Given the description of an element on the screen output the (x, y) to click on. 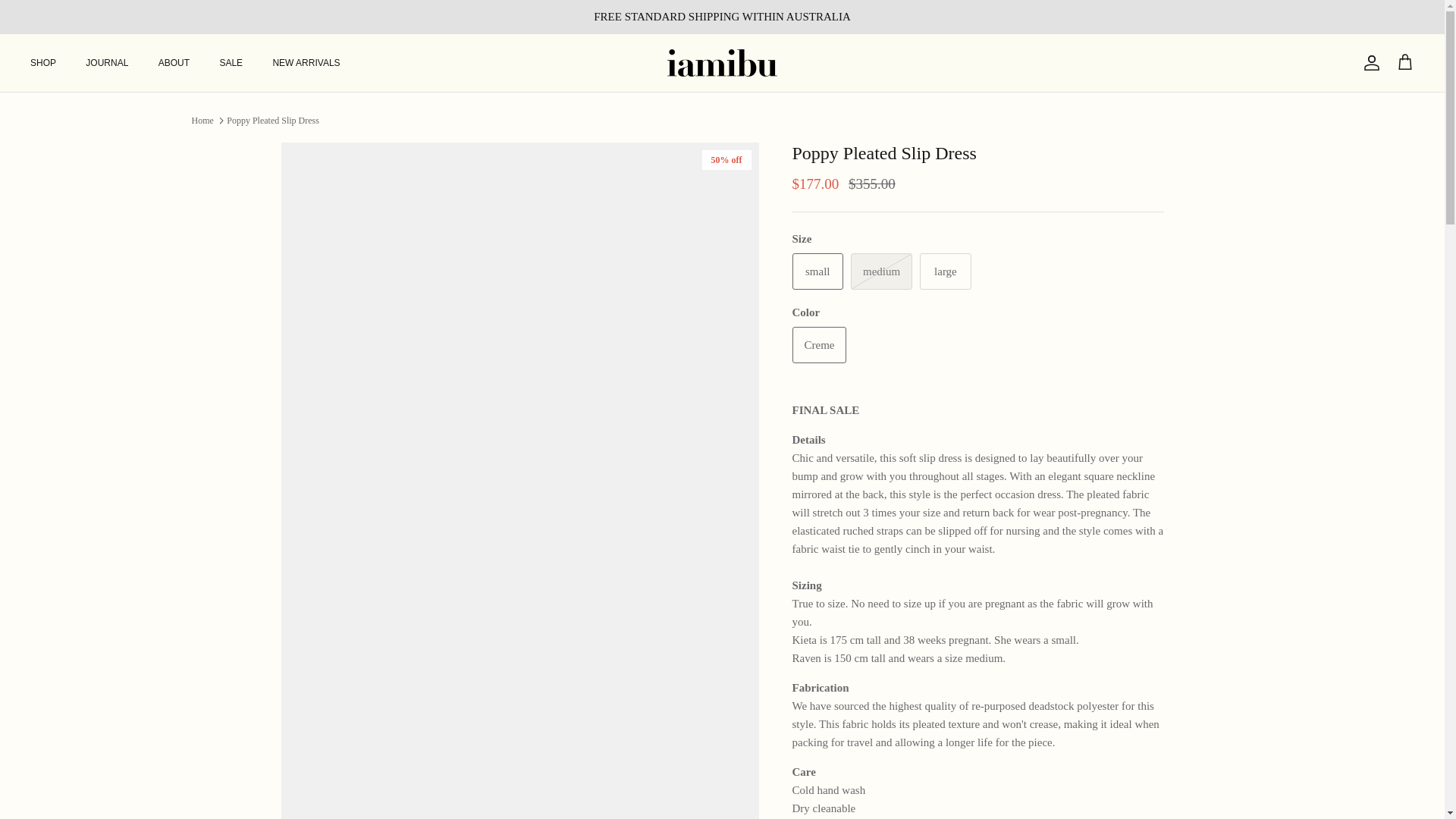
Cart (1404, 62)
ABOUT (173, 62)
JOURNAL (106, 62)
Account (1368, 63)
SALE (230, 62)
NEW ARRIVALS (306, 62)
SHOP (42, 62)
iamibu (721, 62)
